Given the description of an element on the screen output the (x, y) to click on. 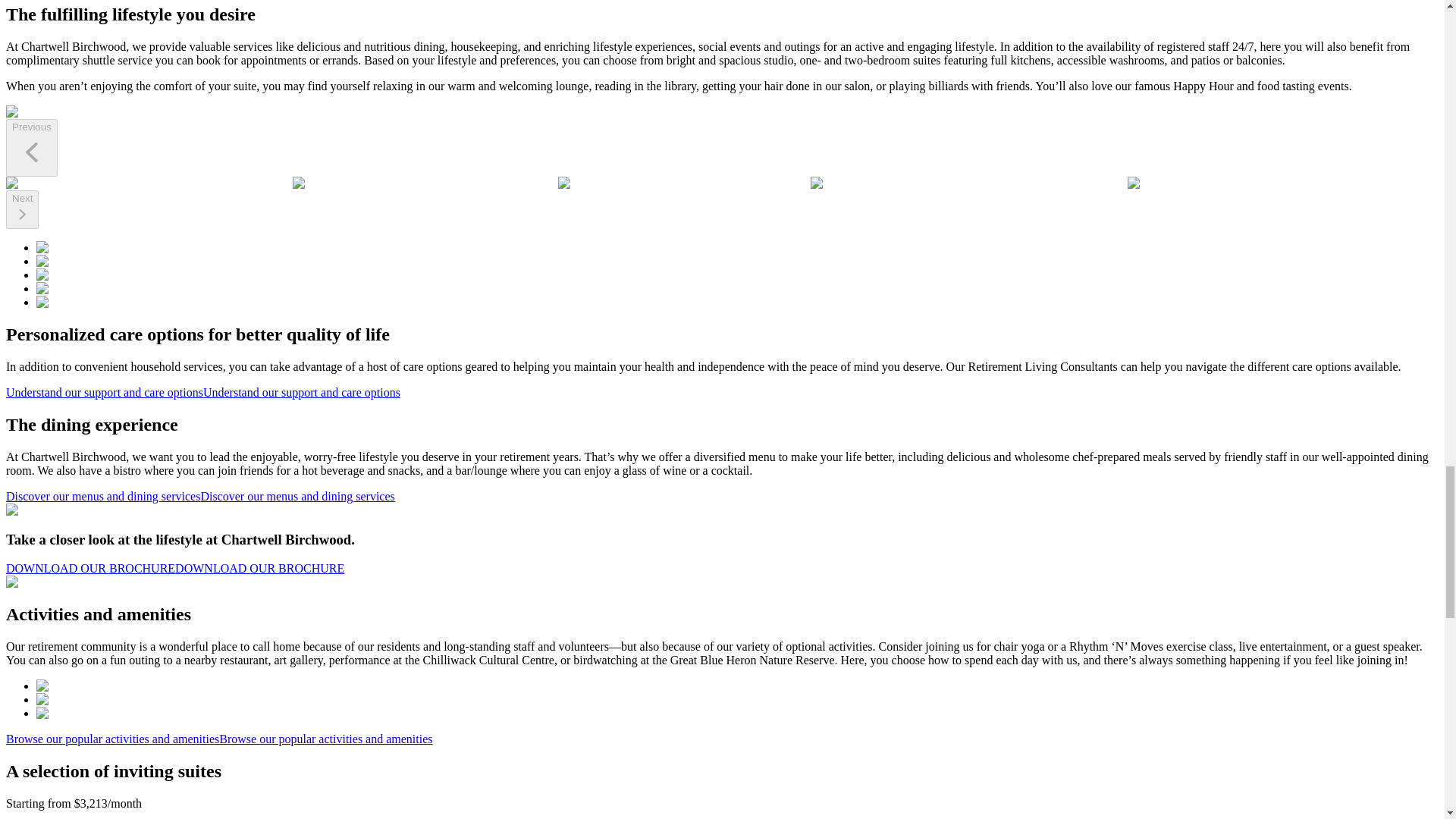
Previous (31, 147)
DOWNLOAD OUR BROCHUREDOWNLOAD OUR BROCHURE (174, 567)
DOWNLOAD OUR BROCHURE (174, 567)
Browse our popular activities and amenities (218, 738)
Discover our menus and dining services (199, 495)
Understand our support and care options (202, 391)
